Given the description of an element on the screen output the (x, y) to click on. 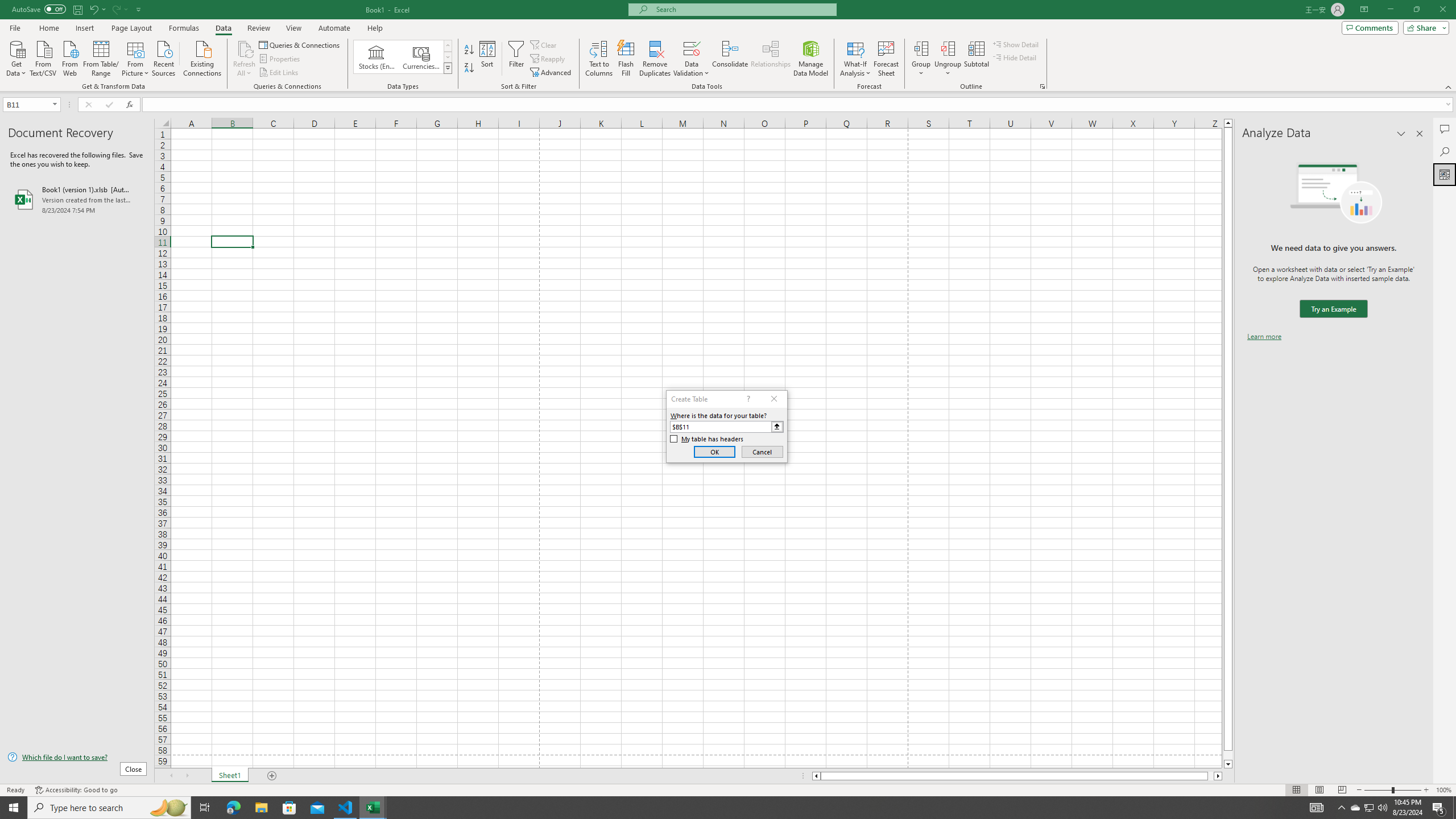
From Table/Range (100, 57)
From Picture (135, 57)
Subtotal (976, 58)
Forecast Sheet (885, 58)
Stocks (English) (375, 56)
